Given the description of an element on the screen output the (x, y) to click on. 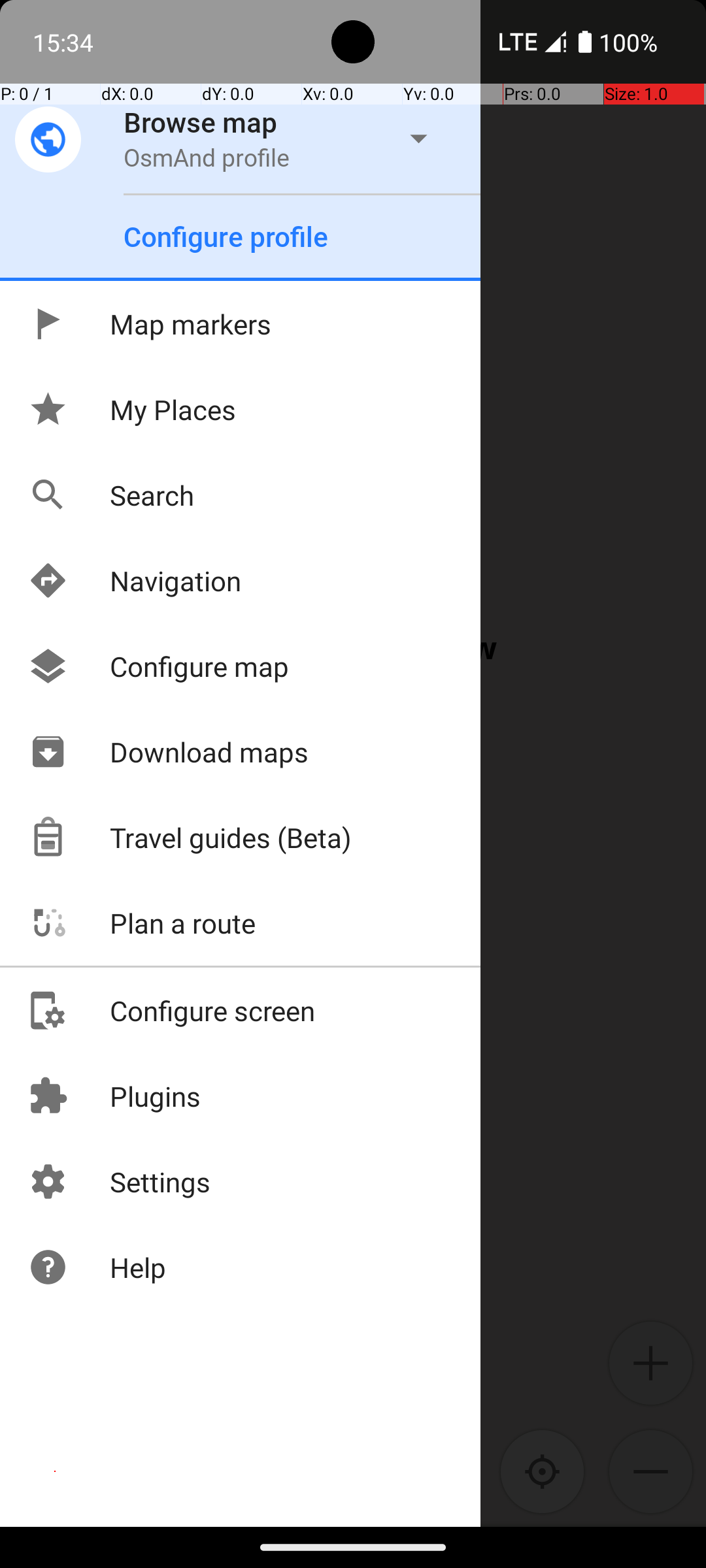
Browse map Element type: android.widget.TextView (200, 121)
OsmAnd profile Element type: android.widget.TextView (206, 156)
Configure profile Element type: android.widget.TextView (225, 235)
My Places Element type: android.widget.TextView (131, 409)
Navigation Element type: android.widget.TextView (134, 580)
Download maps Element type: android.widget.TextView (168, 751)
Travel guides (Beta) Element type: android.widget.TextView (189, 837)
Plan a route Element type: android.widget.TextView (141, 922)
Configure screen Element type: android.widget.TextView (171, 1010)
Plugins Element type: android.widget.TextView (114, 1095)
